Given the description of an element on the screen output the (x, y) to click on. 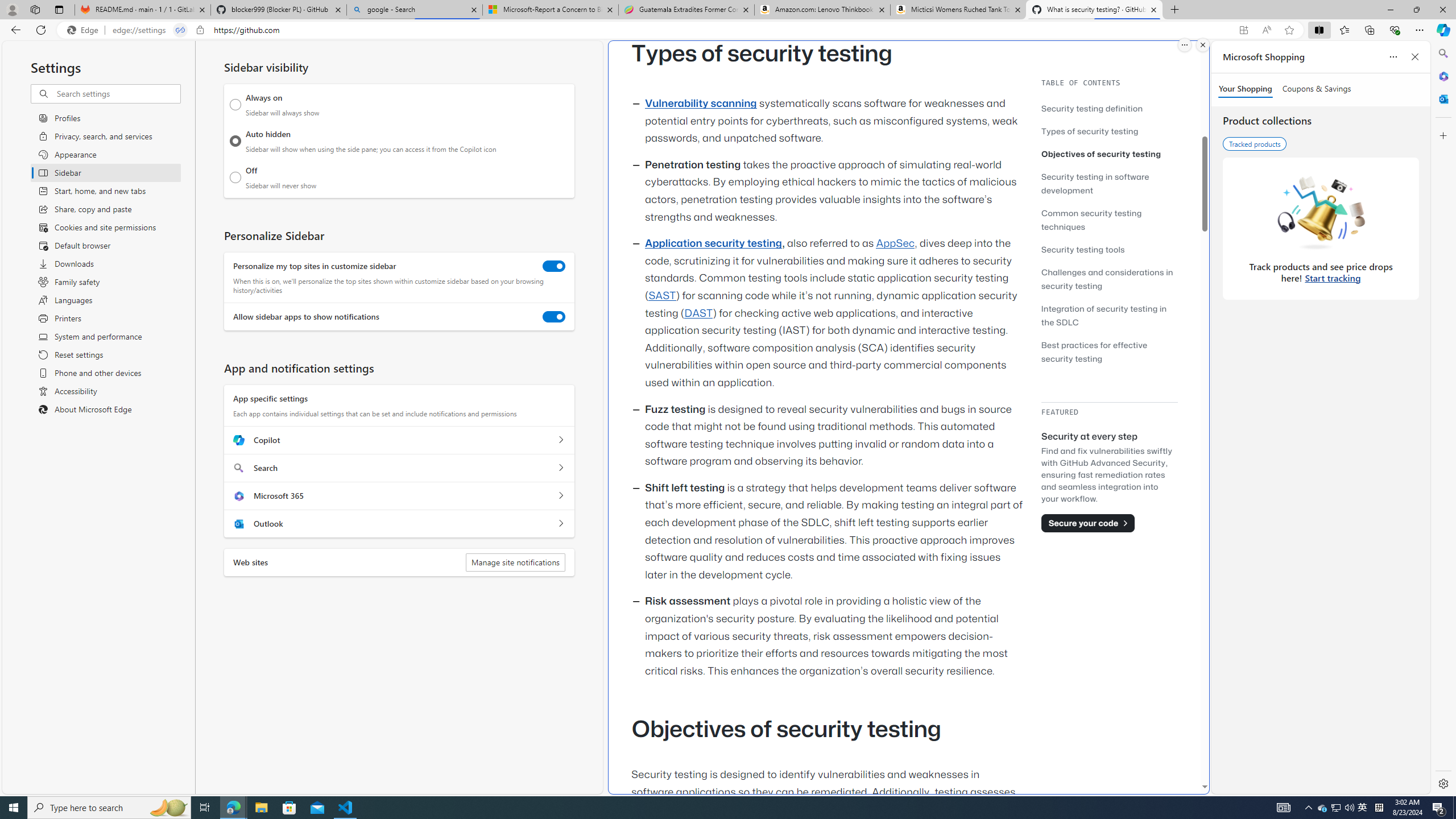
Vulnerability scanning (701, 103)
Always on Sidebar will always show (235, 104)
Security testing definition (1109, 108)
Security testing tools (1083, 248)
Security testing in software development (1109, 183)
